Given the description of an element on the screen output the (x, y) to click on. 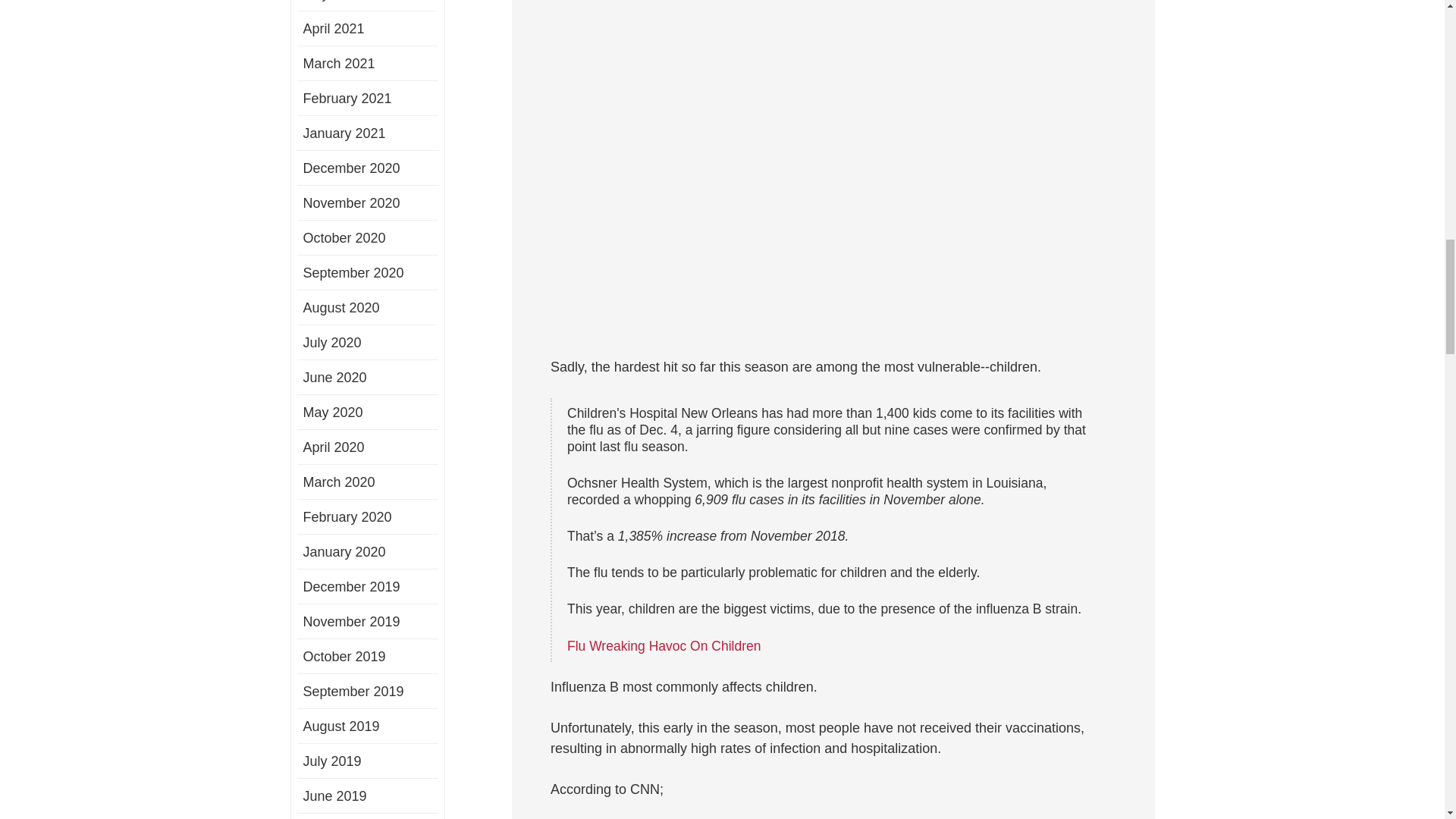
Flu Wreaking Havoc On Children (663, 645)
